Given the description of an element on the screen output the (x, y) to click on. 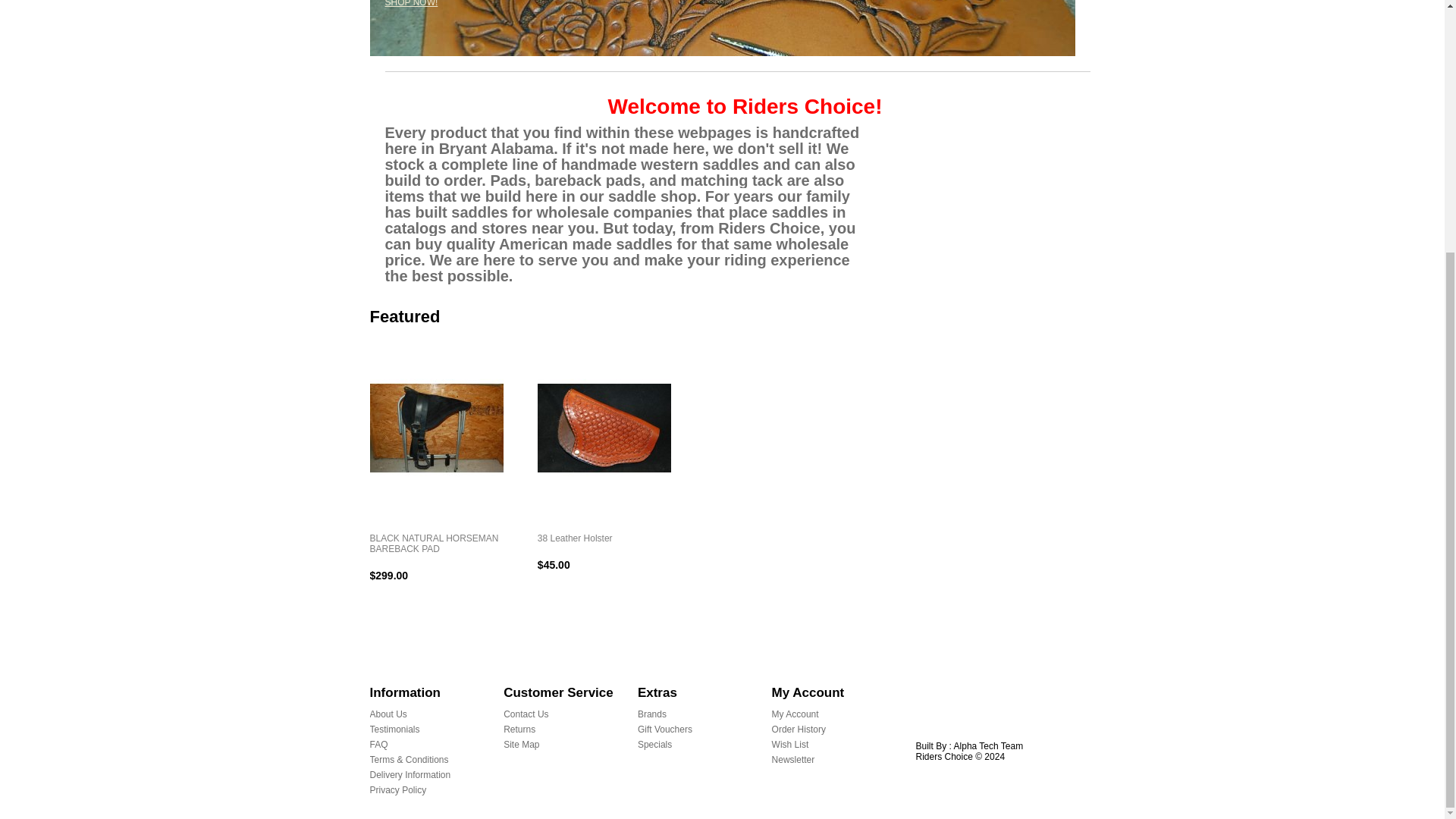
1 (395, 3)
ADD TO CART (404, 602)
3 (446, 3)
banner (722, 28)
2 (420, 3)
SHOP NOW! (411, 3)
BLACK NATURAL HORSEMAN BAREBACK PAD (436, 543)
